Given the description of an element on the screen output the (x, y) to click on. 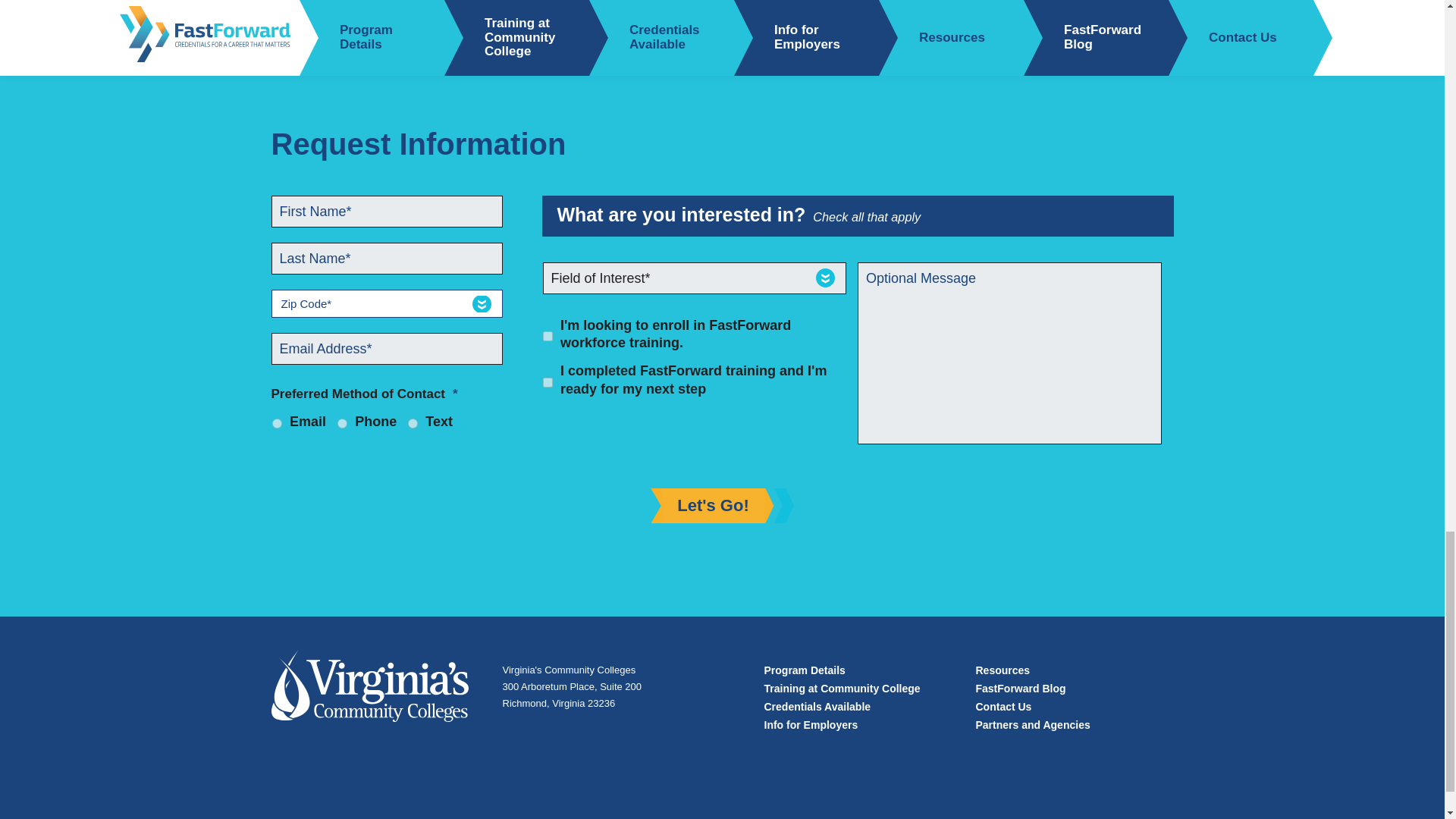
Training at Community College (842, 688)
I'm looking to enroll in FastForward workforce training. (548, 336)
Partners and Agencies (1032, 725)
Twitter (413, 11)
Contact Us (1002, 706)
Credentials Available (817, 706)
Info for Employers (811, 725)
Email (493, 11)
Phone (342, 423)
LinkedIn (453, 11)
Text (412, 423)
Fast Forward (369, 693)
Email (275, 423)
Twitter (413, 11)
